Given the description of an element on the screen output the (x, y) to click on. 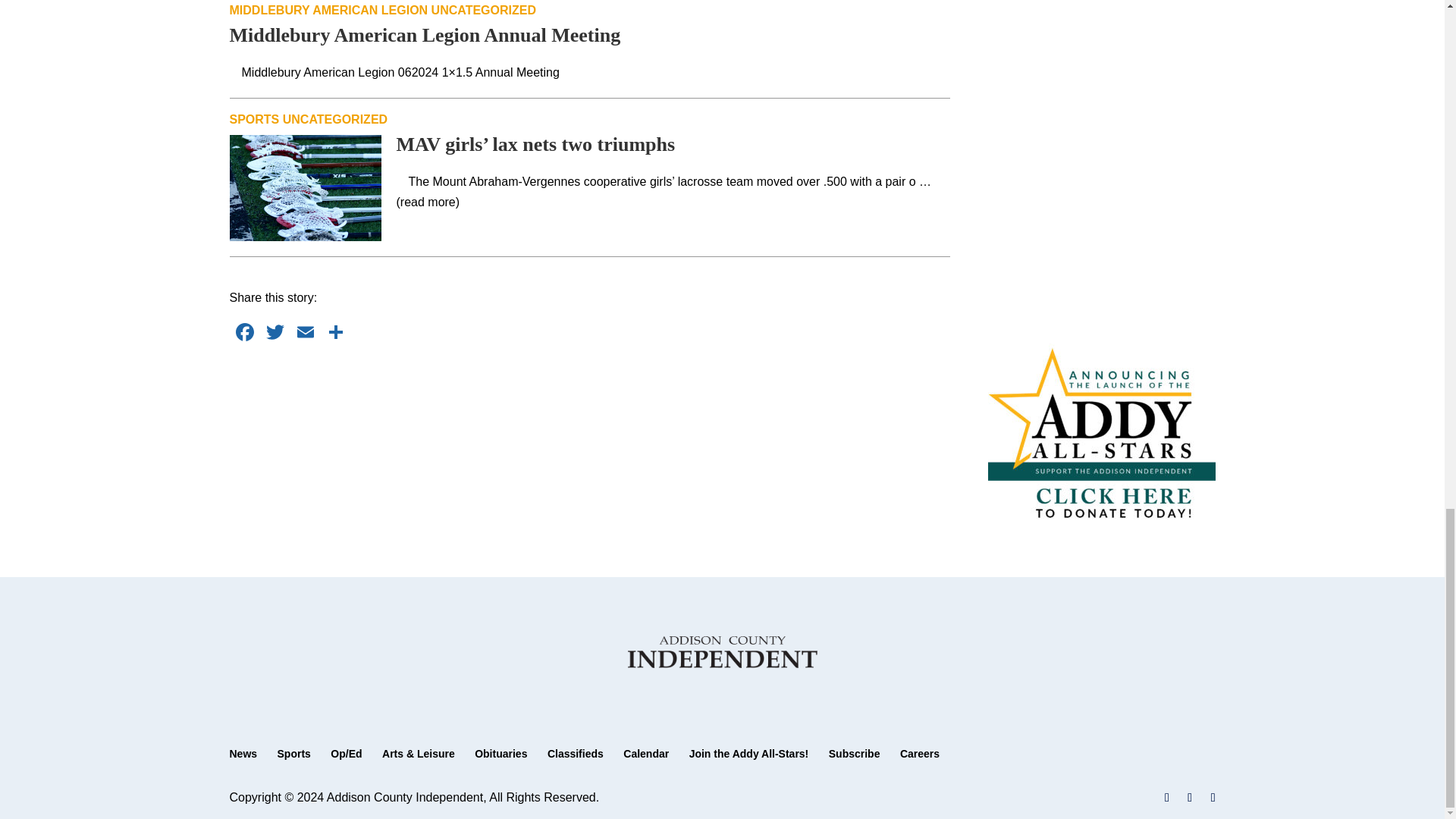
Twitter (274, 334)
Email (304, 334)
Facebook (243, 334)
